Given the description of an element on the screen output the (x, y) to click on. 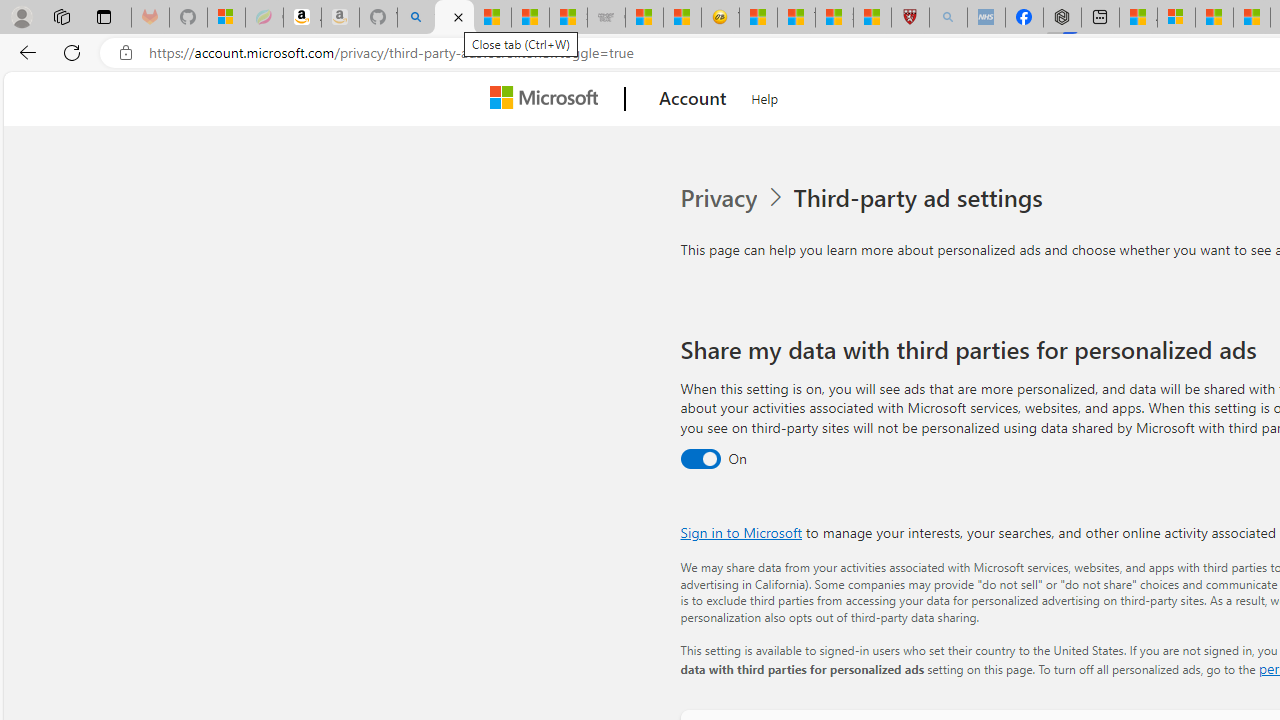
Third party data sharing toggle (699, 459)
Combat Siege (605, 17)
12 Popular Science Lies that Must be Corrected (871, 17)
Help (765, 96)
